Given the description of an element on the screen output the (x, y) to click on. 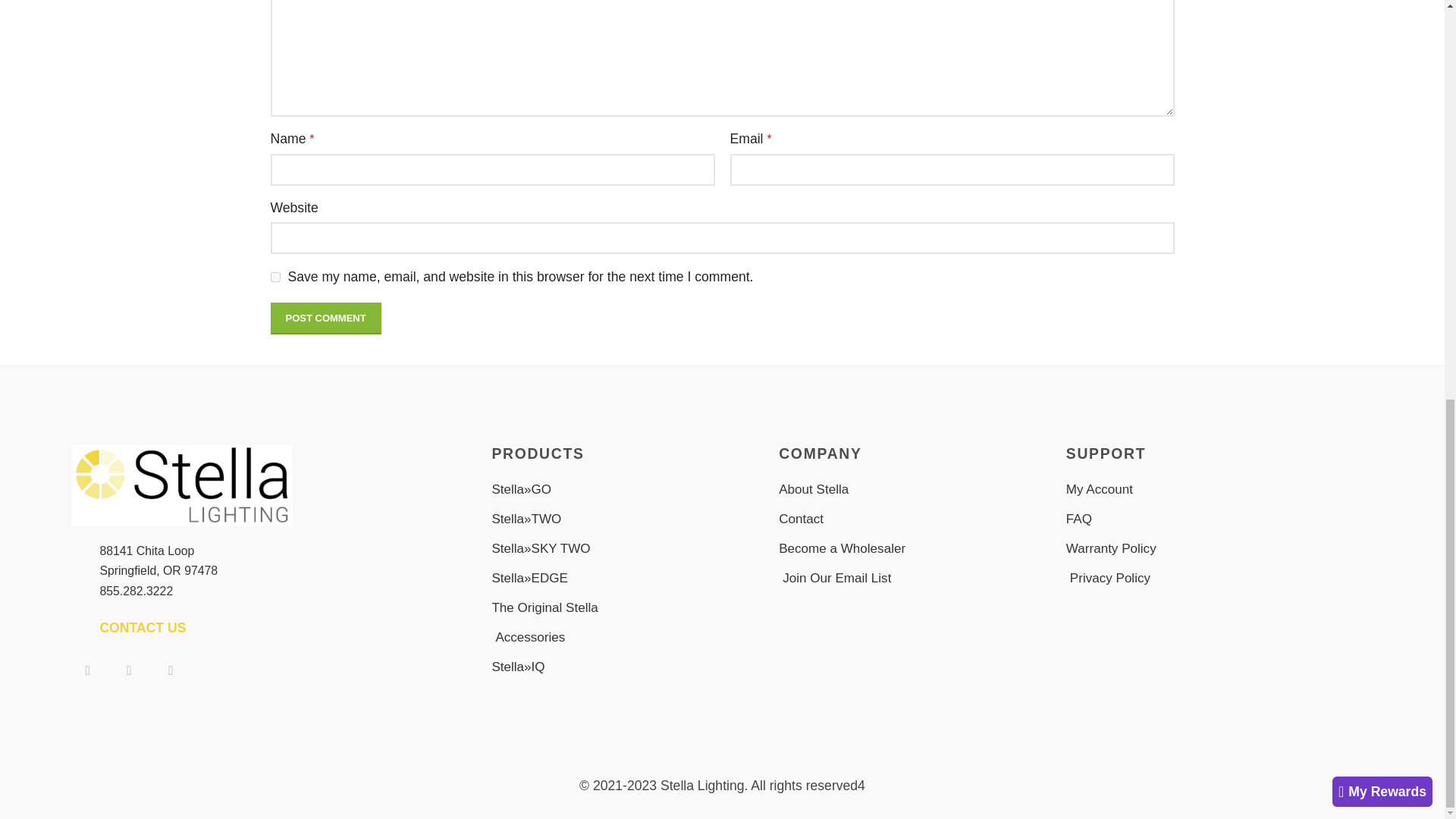
Post Comment (324, 318)
yes (274, 276)
